Given the description of an element on the screen output the (x, y) to click on. 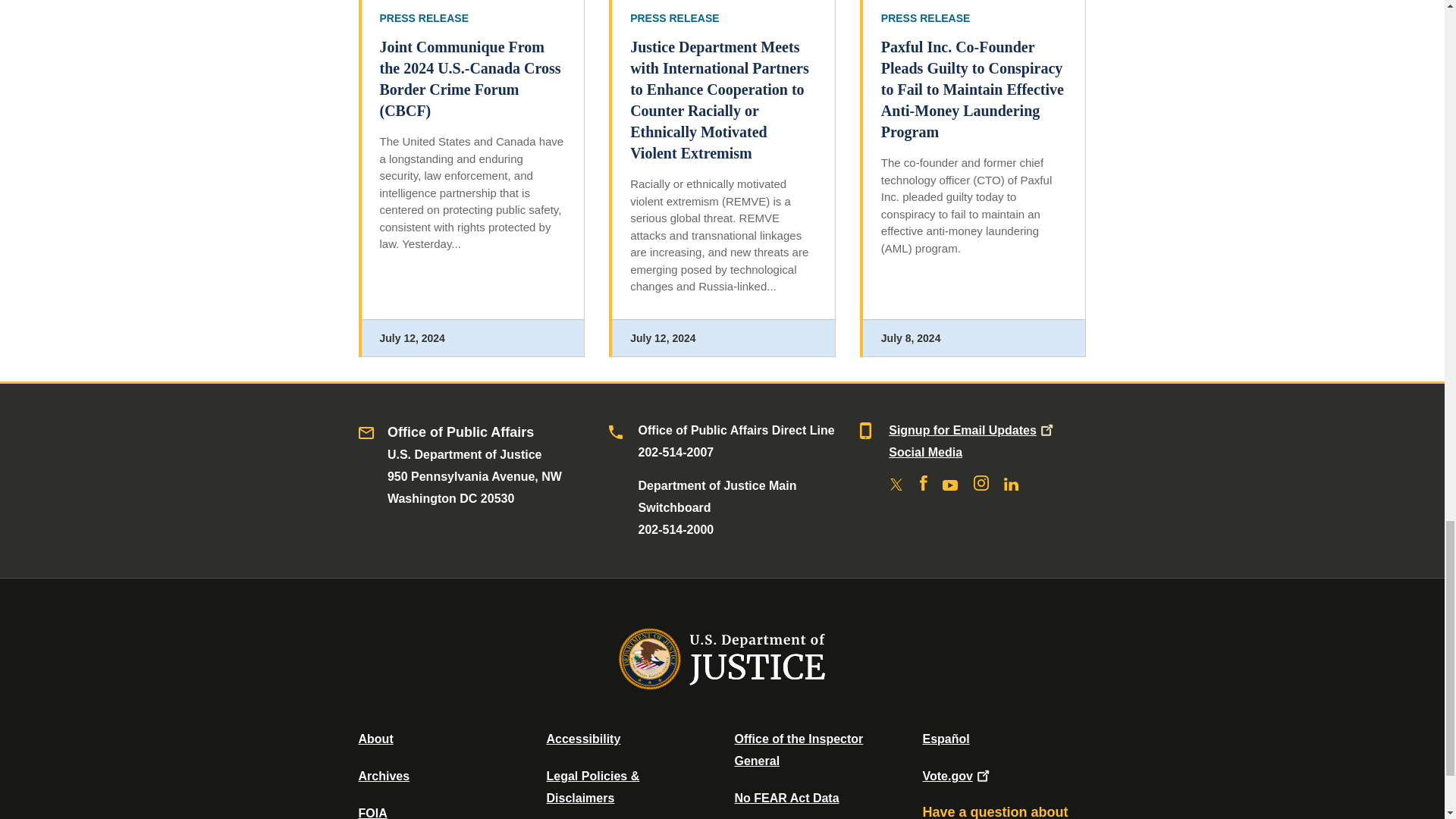
About DOJ (375, 738)
Department of Justice Archive (383, 775)
Accessibility Statement (583, 738)
Office of Information Policy (372, 812)
Legal Policies and Disclaimers (592, 786)
Data Posted Pursuant To The No Fear Act (785, 797)
